Given the description of an element on the screen output the (x, y) to click on. 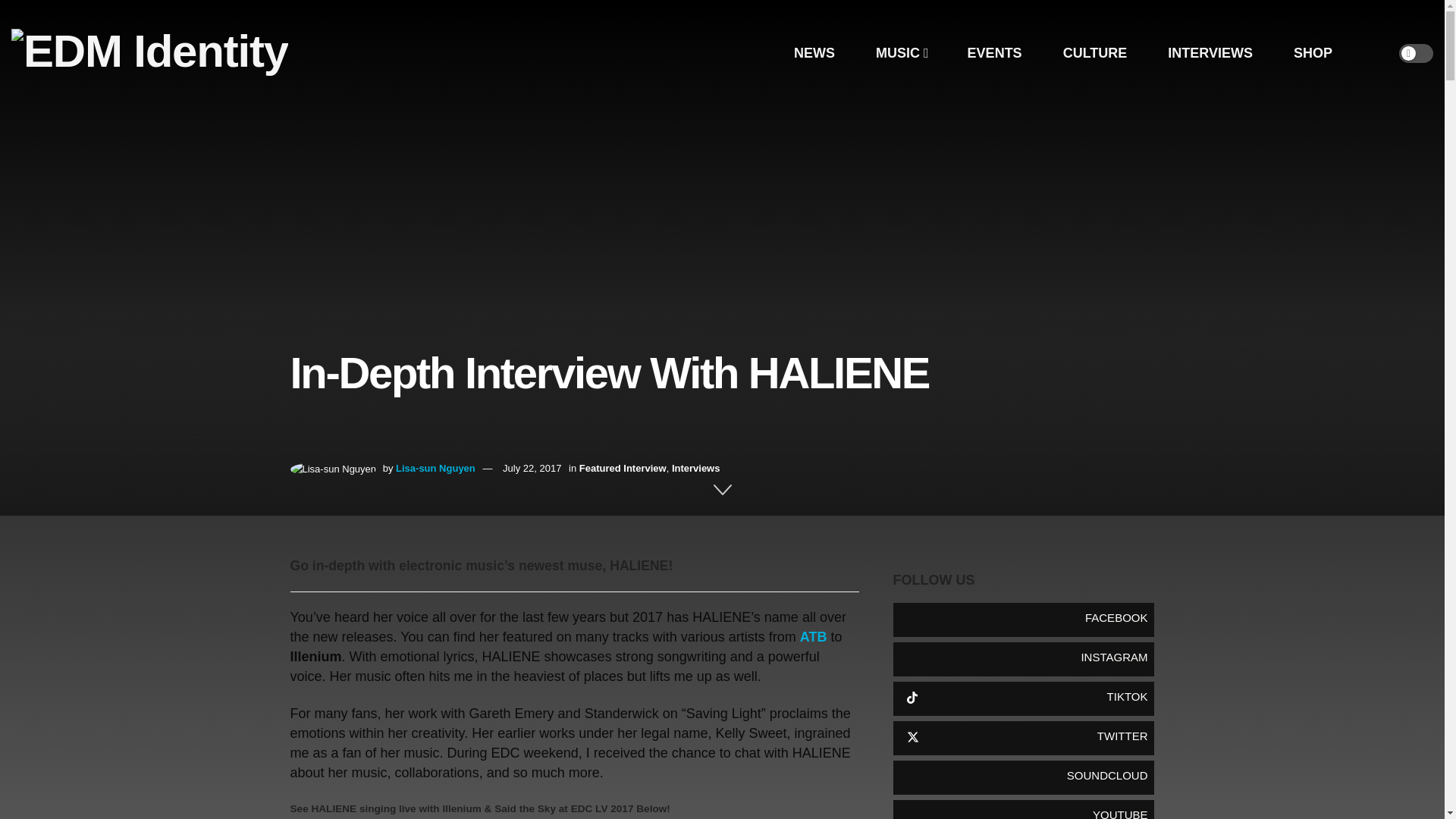
Featured Interview (622, 468)
Lisa-sun Nguyen (436, 468)
MUSIC (901, 53)
ATB (813, 636)
Interviews (695, 468)
CULTURE (1095, 53)
SHOP (1312, 53)
INTERVIEWS (1210, 53)
NEWS (814, 53)
EVENTS (994, 53)
